Given the description of an element on the screen output the (x, y) to click on. 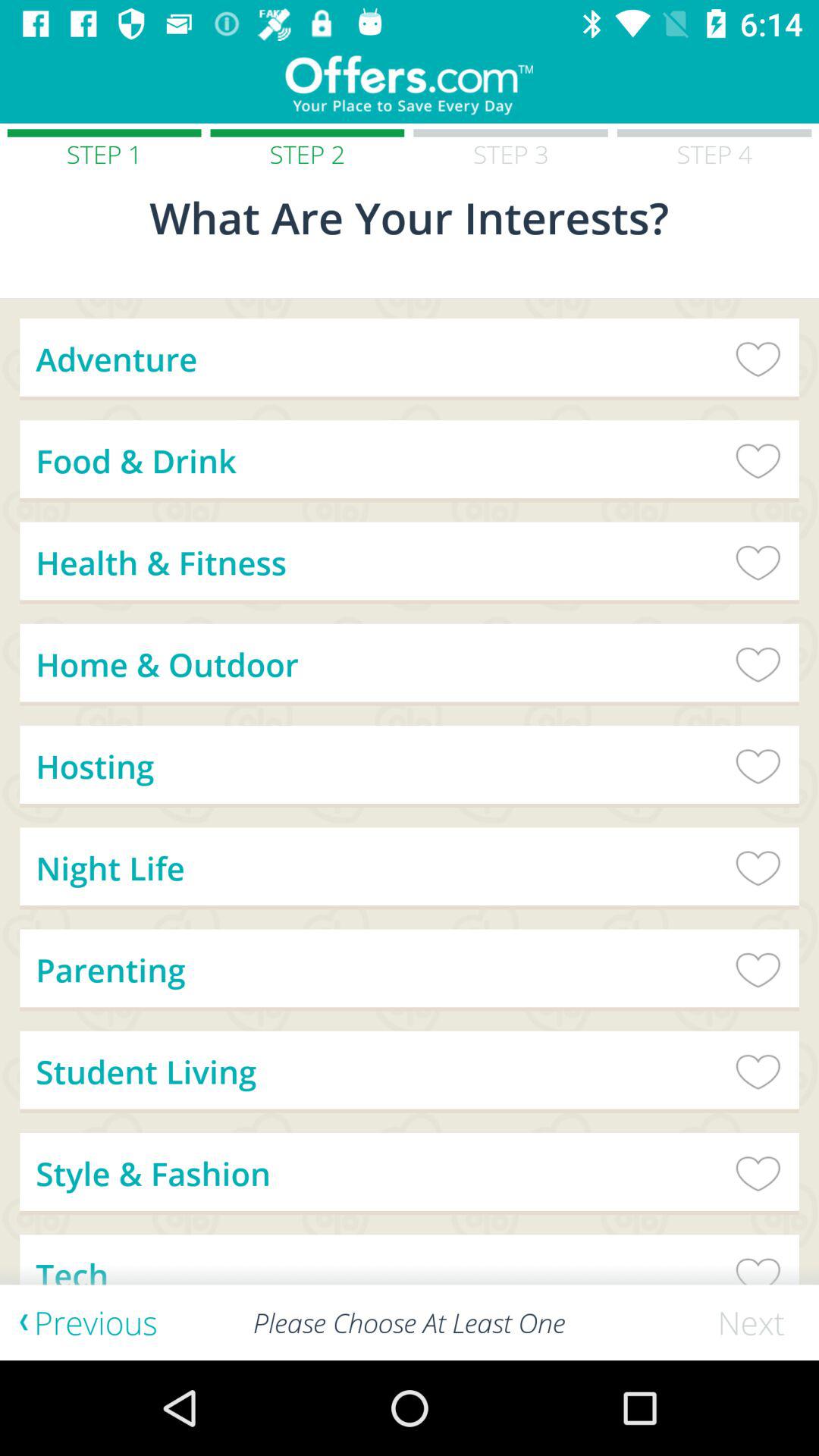
turn off the icon next to please choose at item (758, 1322)
